Given the description of an element on the screen output the (x, y) to click on. 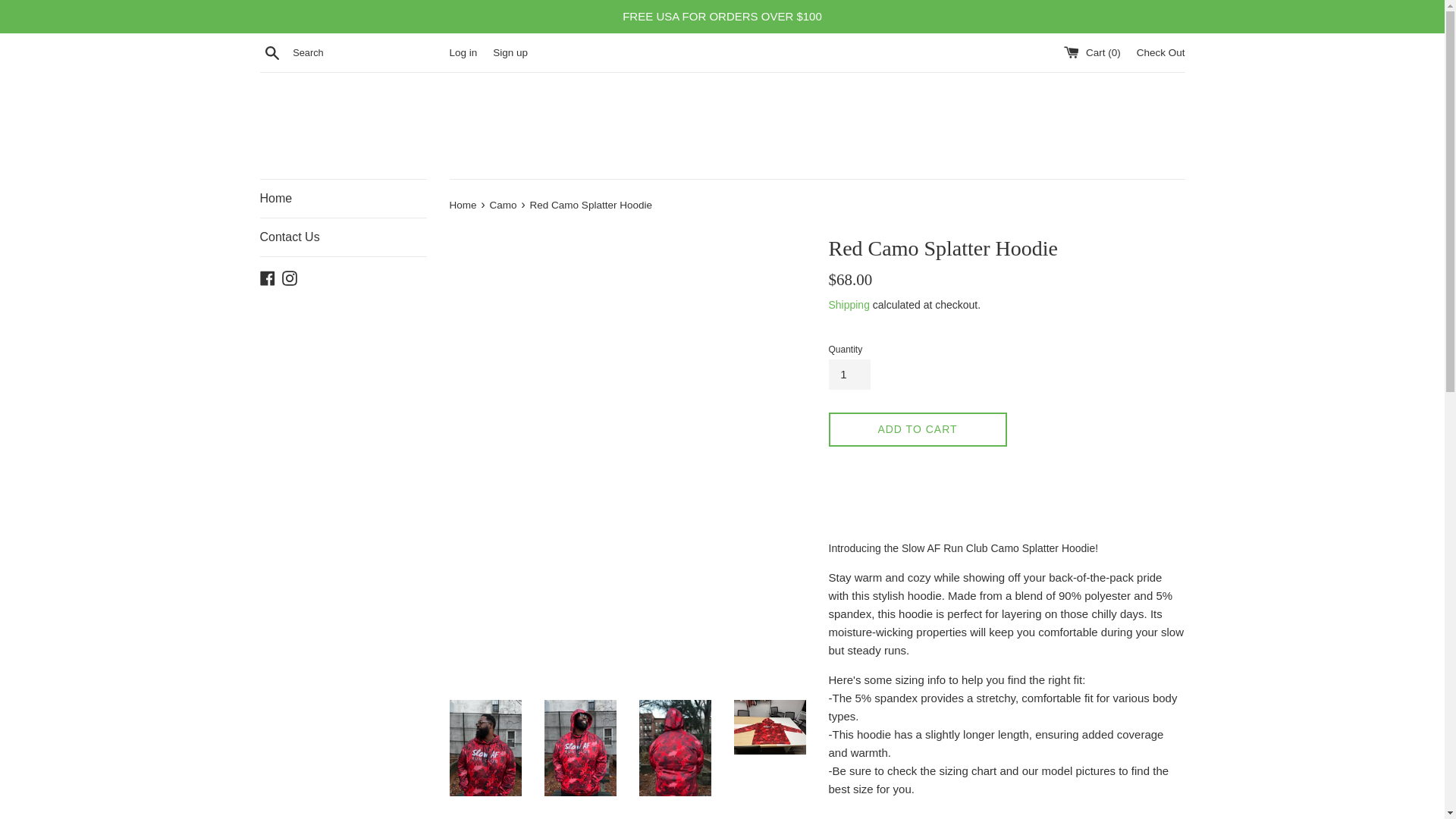
Back to the frontpage (463, 204)
Search (271, 52)
Log in (462, 52)
Camo (504, 204)
Slow AF Run Club Store on Instagram (289, 277)
Facebook (267, 277)
1 (848, 374)
Sign up (510, 52)
Shipping (848, 304)
Contact Us (342, 237)
Home (342, 198)
Check Out (1161, 52)
Home (463, 204)
Instagram (289, 277)
Slow AF Run Club Store on Facebook (267, 277)
